Given the description of an element on the screen output the (x, y) to click on. 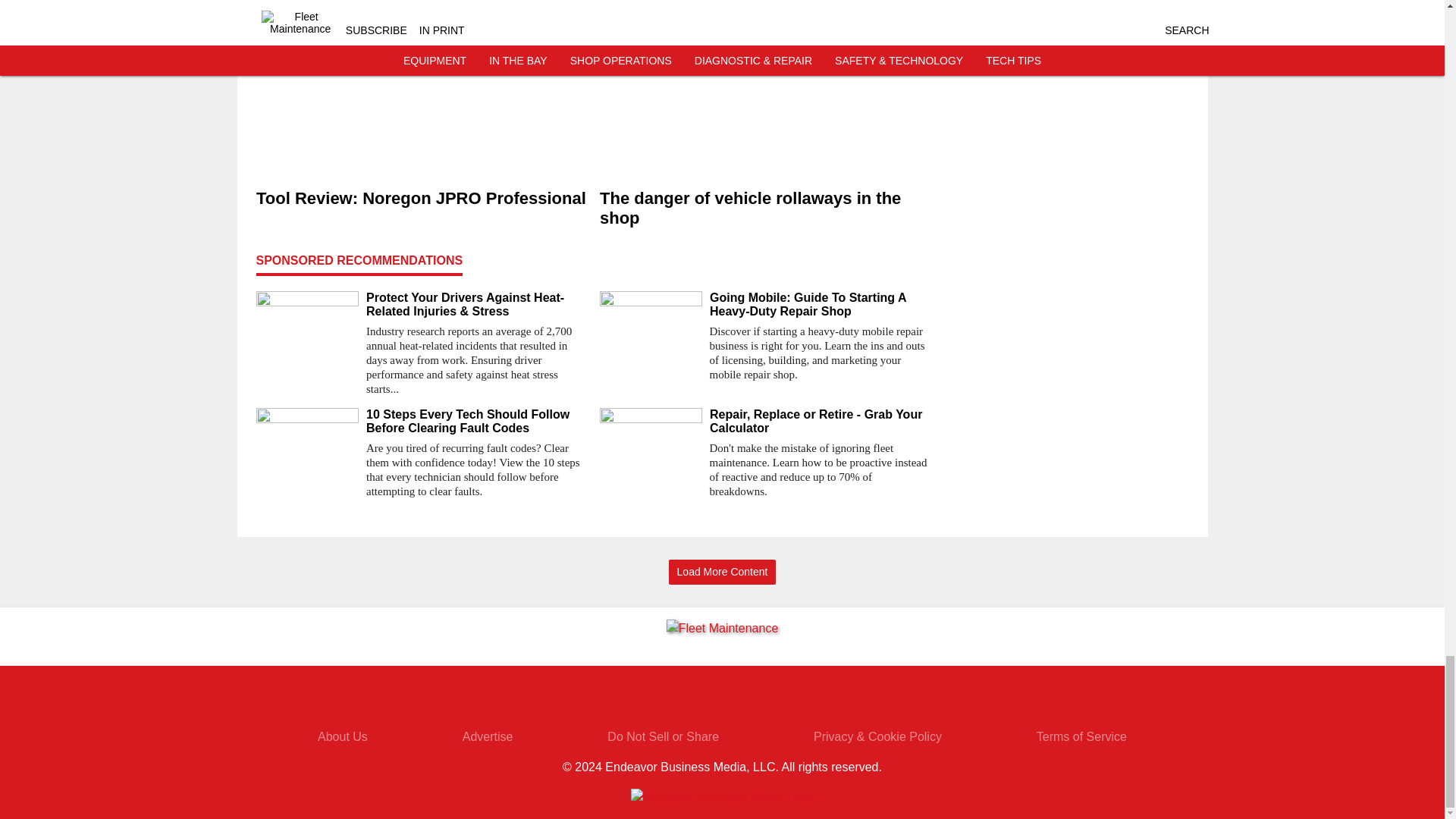
Going Mobile: Guide To Starting A Heavy-Duty Repair Shop (820, 304)
Repair, Replace or Retire - Grab Your Calculator (820, 420)
The danger of vehicle rollaways in the shop (764, 208)
Tool Review: Noregon JPRO Professional (422, 198)
